Given the description of an element on the screen output the (x, y) to click on. 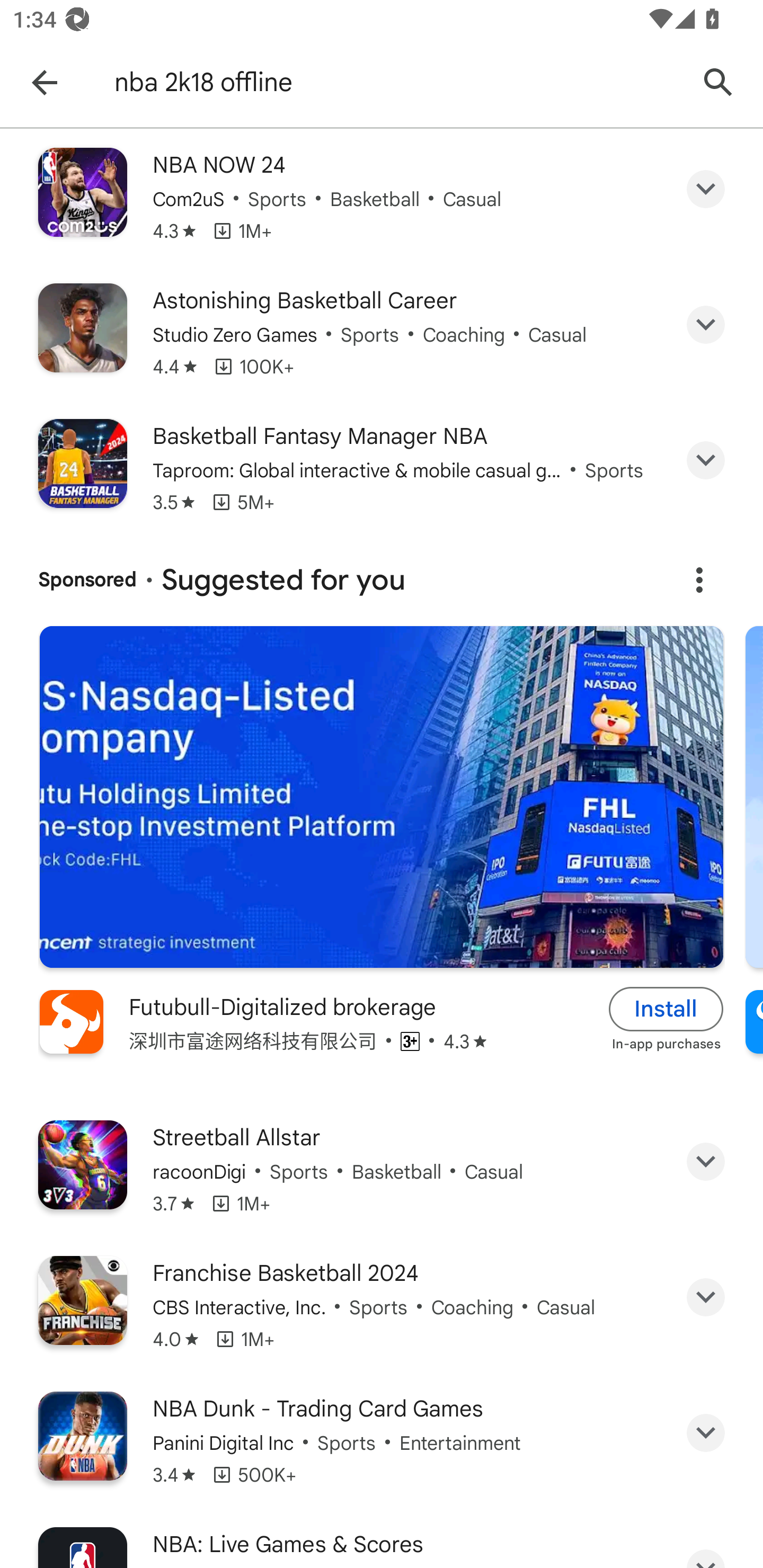
nba 2k18 offline (397, 82)
Navigate up (44, 81)
Search Google Play (718, 81)
Expand content for NBA NOW 24 (705, 188)
Expand content for Astonishing Basketball Career (705, 324)
Expand content for Basketball Fantasy Manager NBA (705, 459)
About this ad (699, 579)
Install (665, 1008)
Expand content for Streetball Allstar (705, 1161)
Expand content for Franchise Basketball 2024 (705, 1297)
Expand content for NBA Dunk - Trading Card Games (705, 1432)
